Given the description of an element on the screen output the (x, y) to click on. 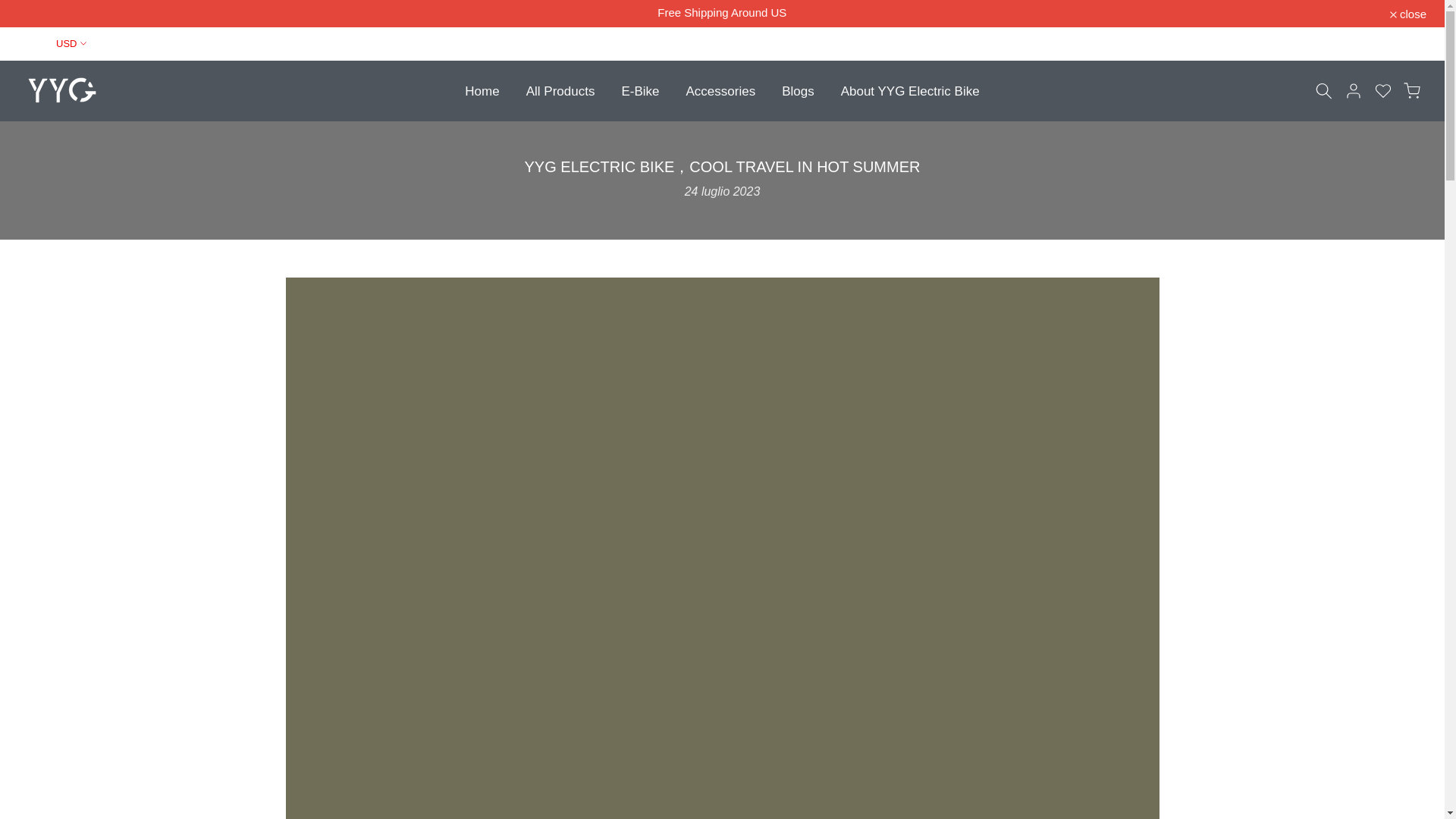
Accessories (720, 90)
Blogs (798, 90)
Home (481, 90)
E-Bike (640, 90)
All Products (560, 90)
About YYG Electric Bike (909, 90)
close (1408, 12)
Skip to content (10, 7)
USD (57, 44)
